Given the description of an element on the screen output the (x, y) to click on. 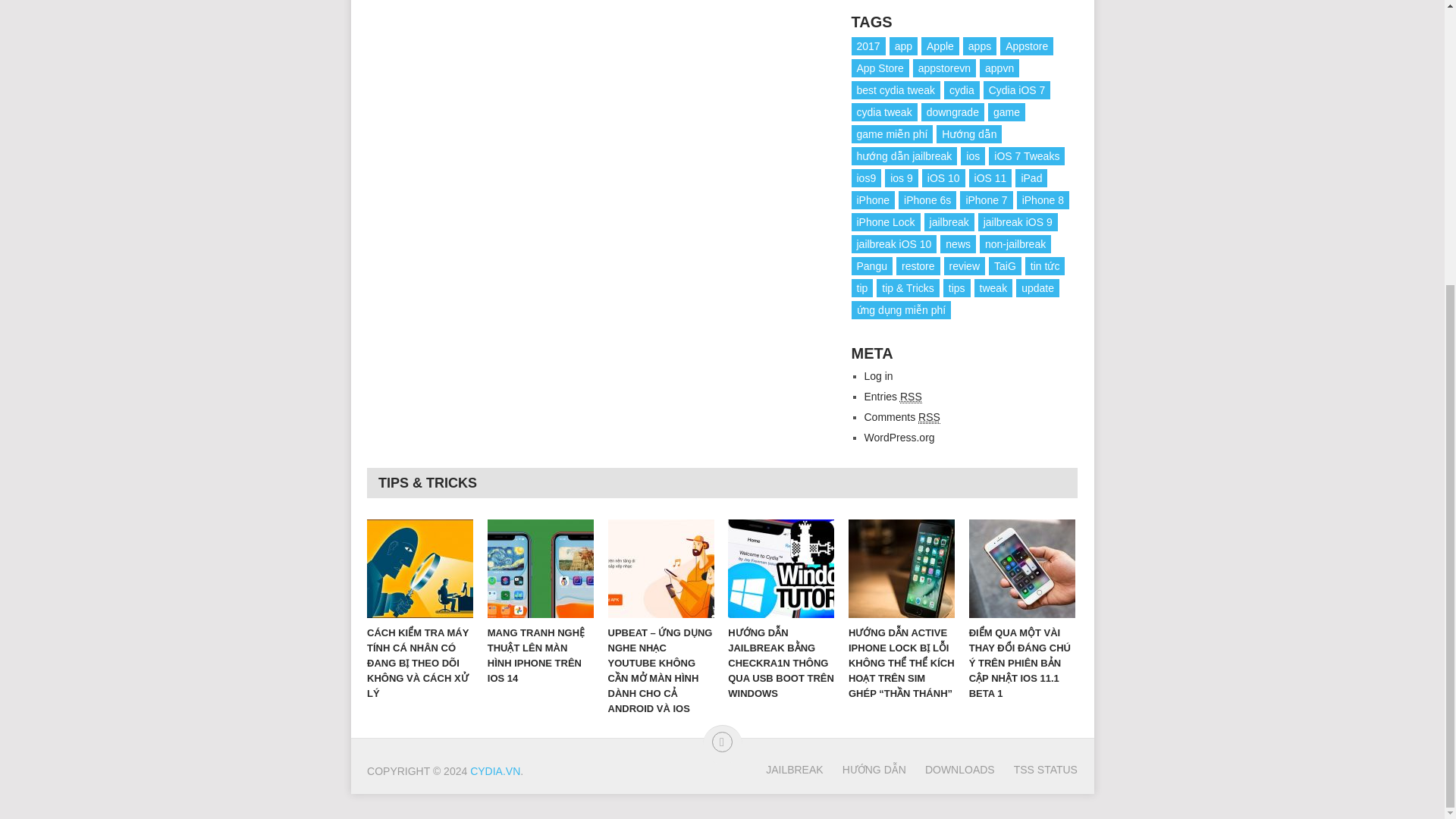
Really Simple Syndication (910, 396)
apps (978, 45)
Cydia iOS 7 (1017, 90)
2017 (867, 45)
app (903, 45)
Appstore (1026, 45)
Really Simple Syndication (929, 417)
Apple (940, 45)
App Store (879, 67)
